Given the description of an element on the screen output the (x, y) to click on. 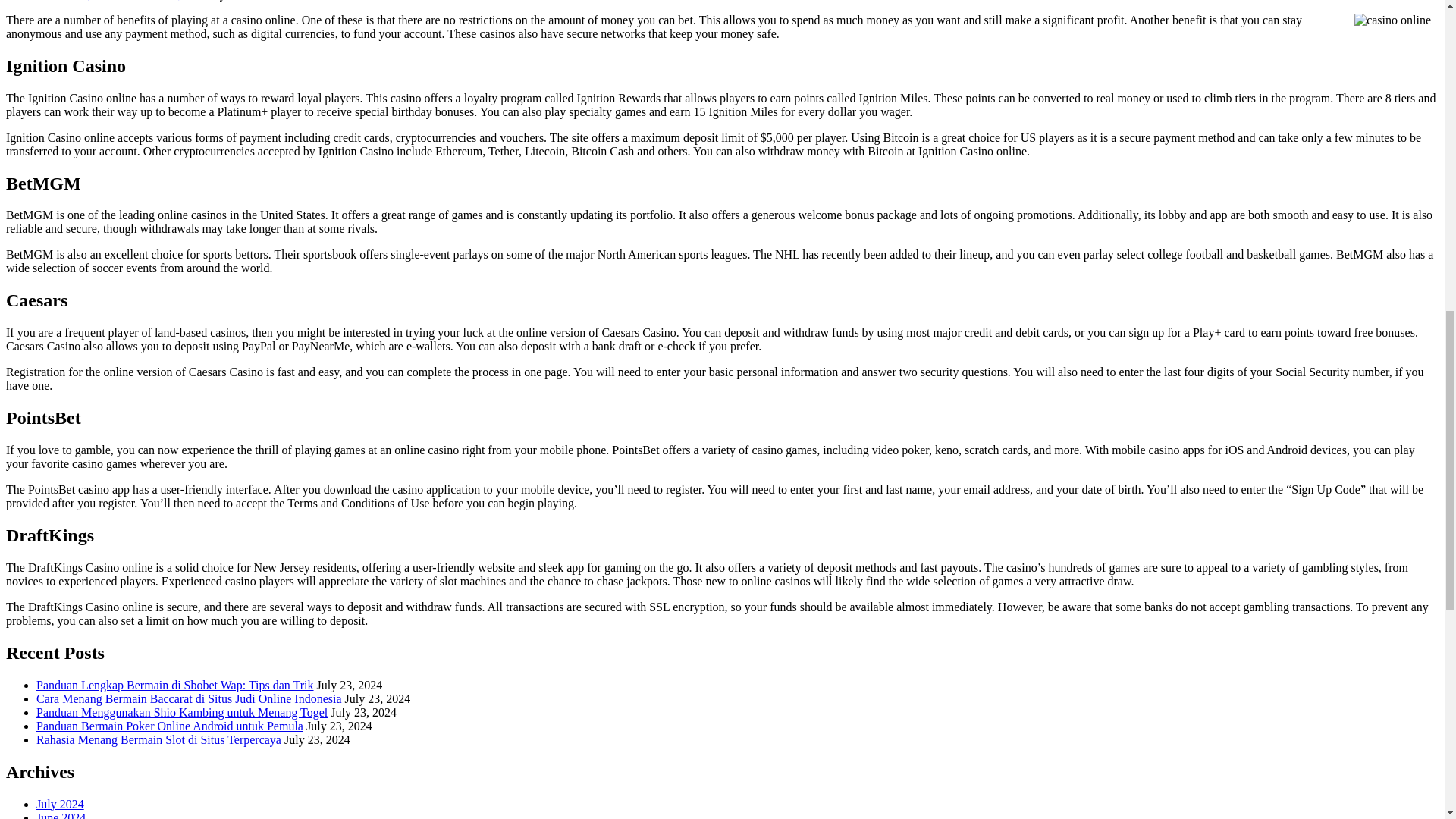
Panduan Bermain Poker Online Android untuk Pemula (169, 725)
July 2024 (60, 803)
Cara Menang Bermain Baccarat di Situs Judi Online Indonesia (189, 698)
adminvant (257, 0)
Panduan Menggunakan Shio Kambing untuk Menang Togel (181, 712)
June 2024 (60, 815)
Rahasia Menang Bermain Slot di Situs Terpercaya (158, 739)
Panduan Lengkap Bermain di Sbobet Wap: Tips dan Trik (175, 684)
